Given the description of an element on the screen output the (x, y) to click on. 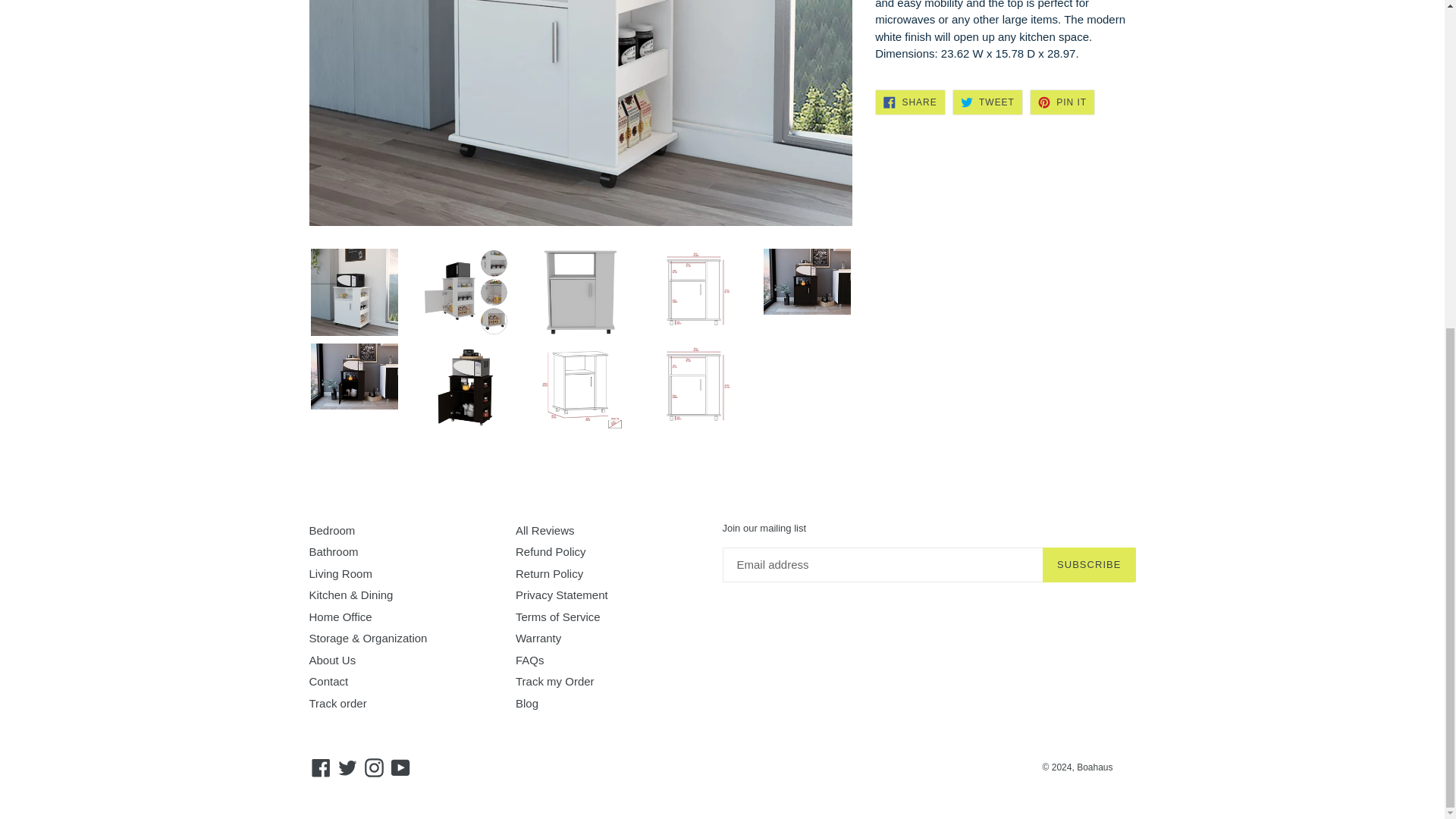
Boahaus on Twitter (347, 767)
Pin on Pinterest (1061, 102)
Boahaus on Facebook (320, 767)
Share on Facebook (909, 102)
Tweet on Twitter (987, 102)
Boahaus on YouTube (400, 767)
Boahaus on Instagram (373, 767)
